Given the description of an element on the screen output the (x, y) to click on. 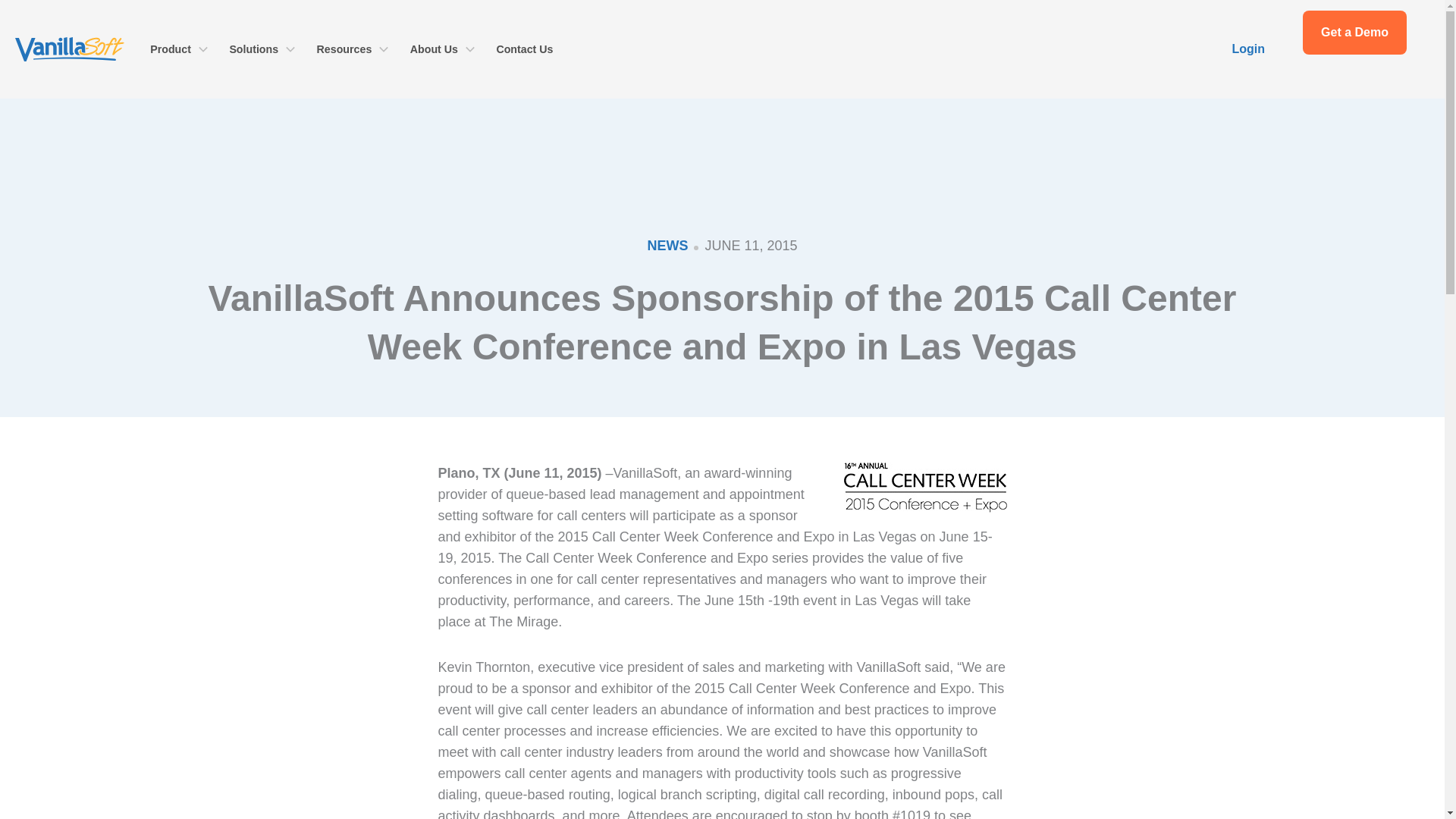
Product (178, 49)
Solutions (261, 49)
Resources (351, 49)
